Given the description of an element on the screen output the (x, y) to click on. 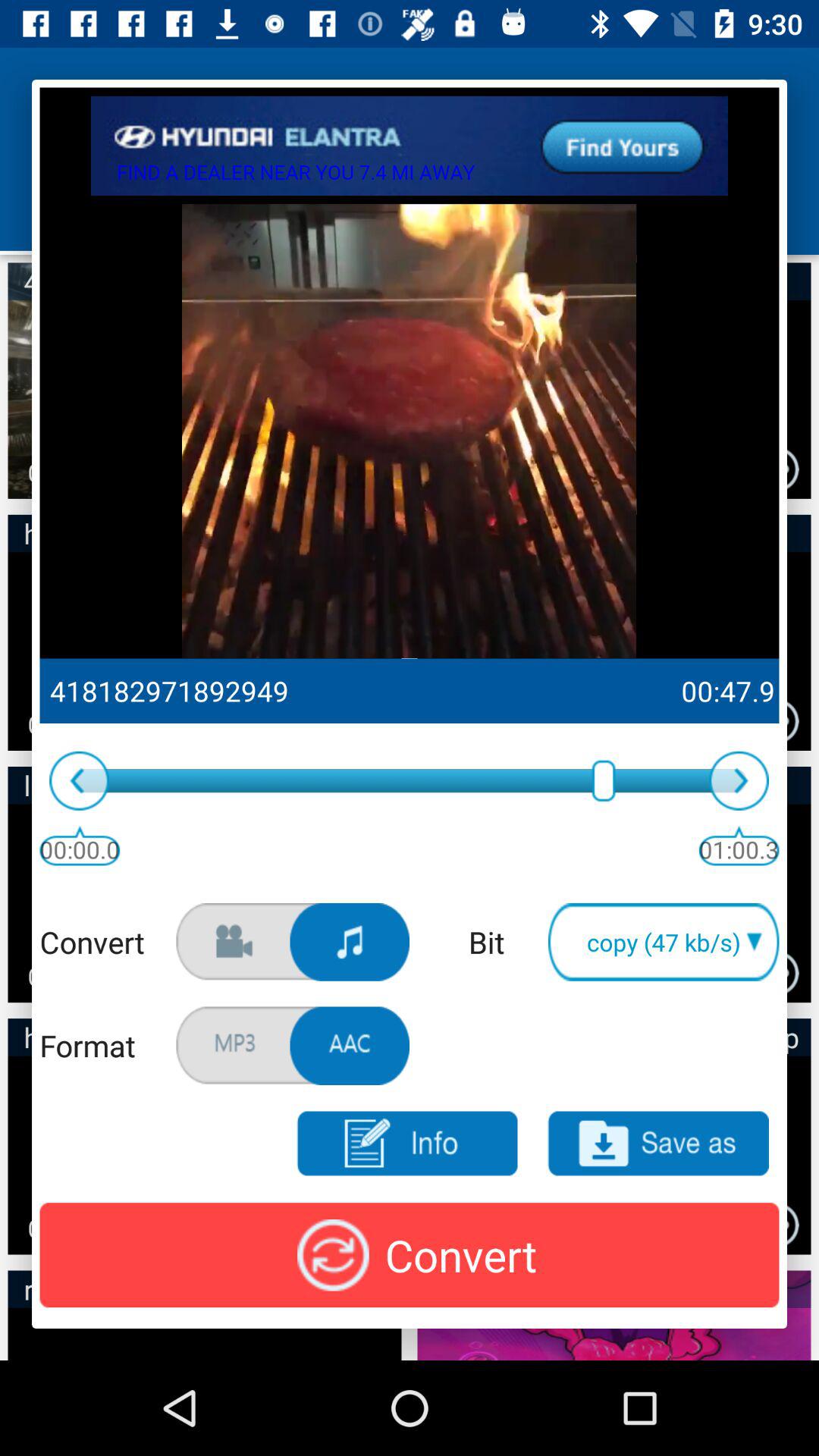
shows hyundai elantra option (409, 145)
